Given the description of an element on the screen output the (x, y) to click on. 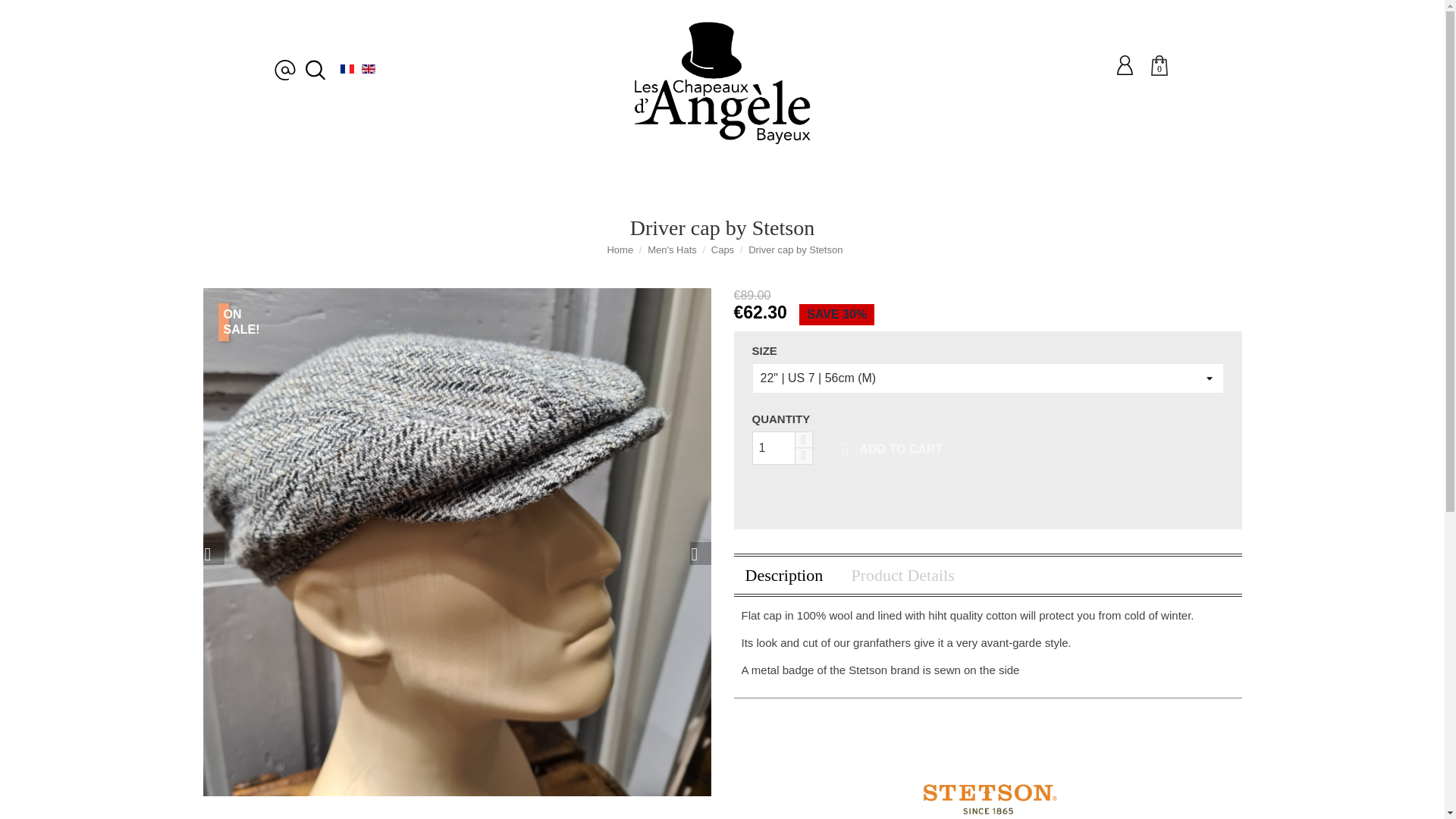
Rain Hats by Lilik et Framboise (640, 179)
1 (773, 448)
English (368, 68)
Women's Hats (408, 179)
Men's Hats (499, 179)
Log in to your customer account (1125, 64)
Berets (767, 179)
